Given the description of an element on the screen output the (x, y) to click on. 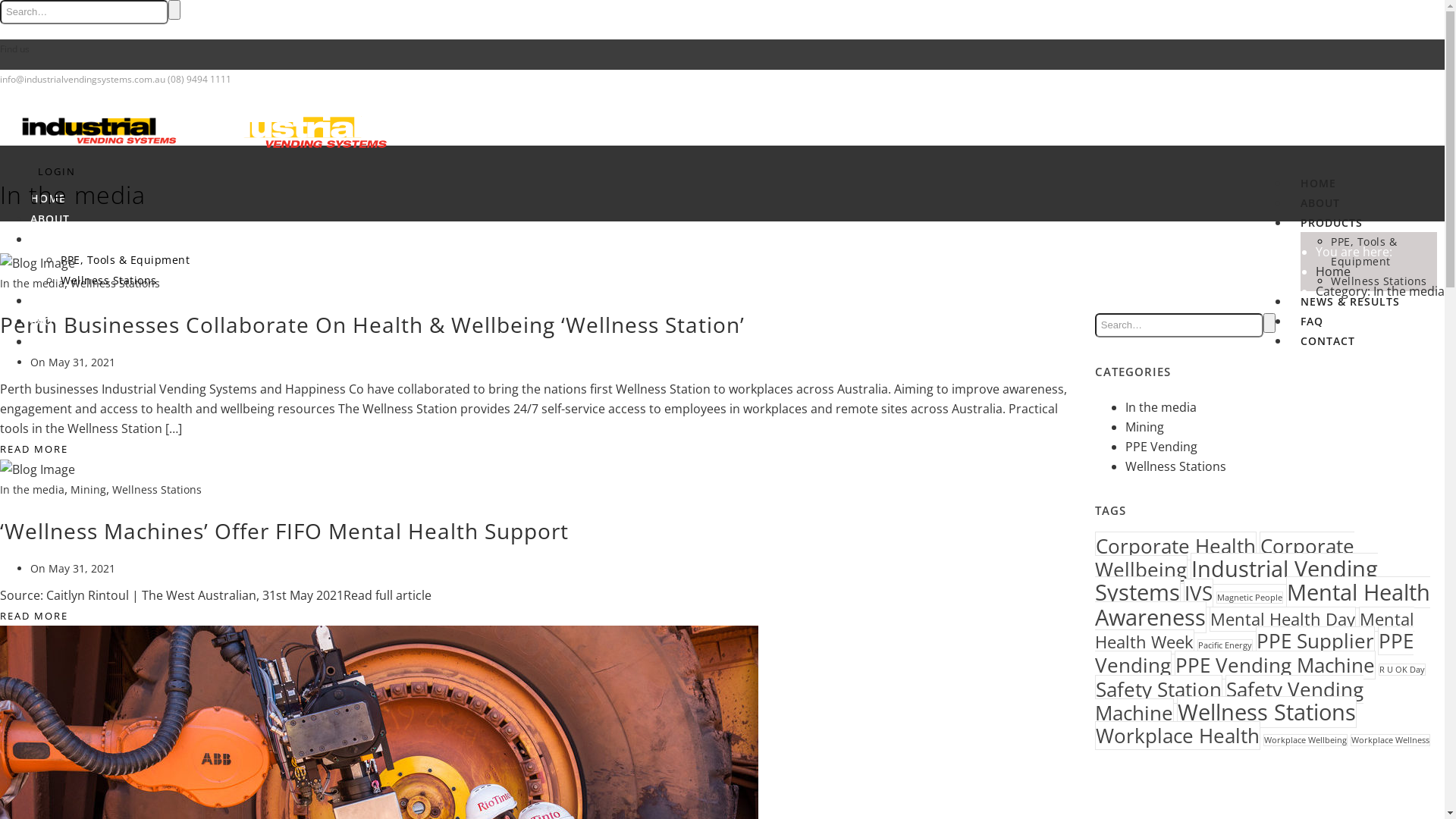
CONTACT Element type: text (1327, 340)
Corporate Health Element type: text (1175, 545)
ABOUT Element type: text (49, 218)
Safety Vending Machine Element type: text (1229, 700)
PRODUCTS Element type: text (1331, 222)
Workplace Wellbeing Element type: text (1305, 740)
CONTACT Element type: text (57, 341)
NEWS & RESULTS Element type: text (79, 300)
PPE Vending Machine Element type: text (1274, 664)
FAQ Element type: text (1311, 320)
Search Element type: text (1269, 322)
Safety Station Element type: text (1158, 688)
PPE Vending Element type: text (1161, 446)
Wellness Stations Element type: text (1266, 712)
HOME Element type: text (1318, 182)
Workplace Wellness Element type: text (1390, 740)
Mental Health Awareness Element type: text (1262, 604)
PPE, Tools & Equipment Element type: text (1363, 251)
READ MORE Element type: text (34, 448)
PRODUCTS Element type: text (61, 239)
Mining Element type: text (88, 489)
FAQ Element type: text (41, 320)
In the media Element type: text (32, 489)
Find us Element type: text (14, 48)
Corporate Wellbeing Element type: text (1224, 557)
Wellness Stations Element type: text (1175, 466)
Wellness Stations Element type: text (108, 280)
Mining Element type: text (1144, 426)
Magnetic People Element type: text (1249, 597)
In the media Element type: text (1160, 406)
PPE Supplier Element type: text (1314, 640)
Wellness Stations Element type: text (1378, 280)
IVS Element type: text (1198, 592)
READ MORE Element type: text (34, 615)
Mental Health Week Element type: text (1254, 630)
Mental Health Day Element type: text (1282, 618)
Industrial Vending Systems Element type: text (1236, 580)
In the media Element type: text (32, 283)
Category: In the media Element type: text (1379, 290)
R U OK Day Element type: text (1401, 669)
Search Element type: text (174, 9)
ABOUT Element type: text (1319, 202)
NEWS & RESULTS Element type: text (1349, 301)
PPE, Tools & Equipment Element type: text (124, 259)
Pacific Energy Element type: text (1224, 645)
Workplace Health Element type: text (1177, 735)
Home Element type: text (1332, 271)
LOGIN Element type: text (56, 171)
Wellness Stations Element type: text (115, 283)
Wellness Stations Element type: text (156, 489)
HOME Element type: text (47, 198)
PPE Vending Element type: text (1254, 652)
